Given the description of an element on the screen output the (x, y) to click on. 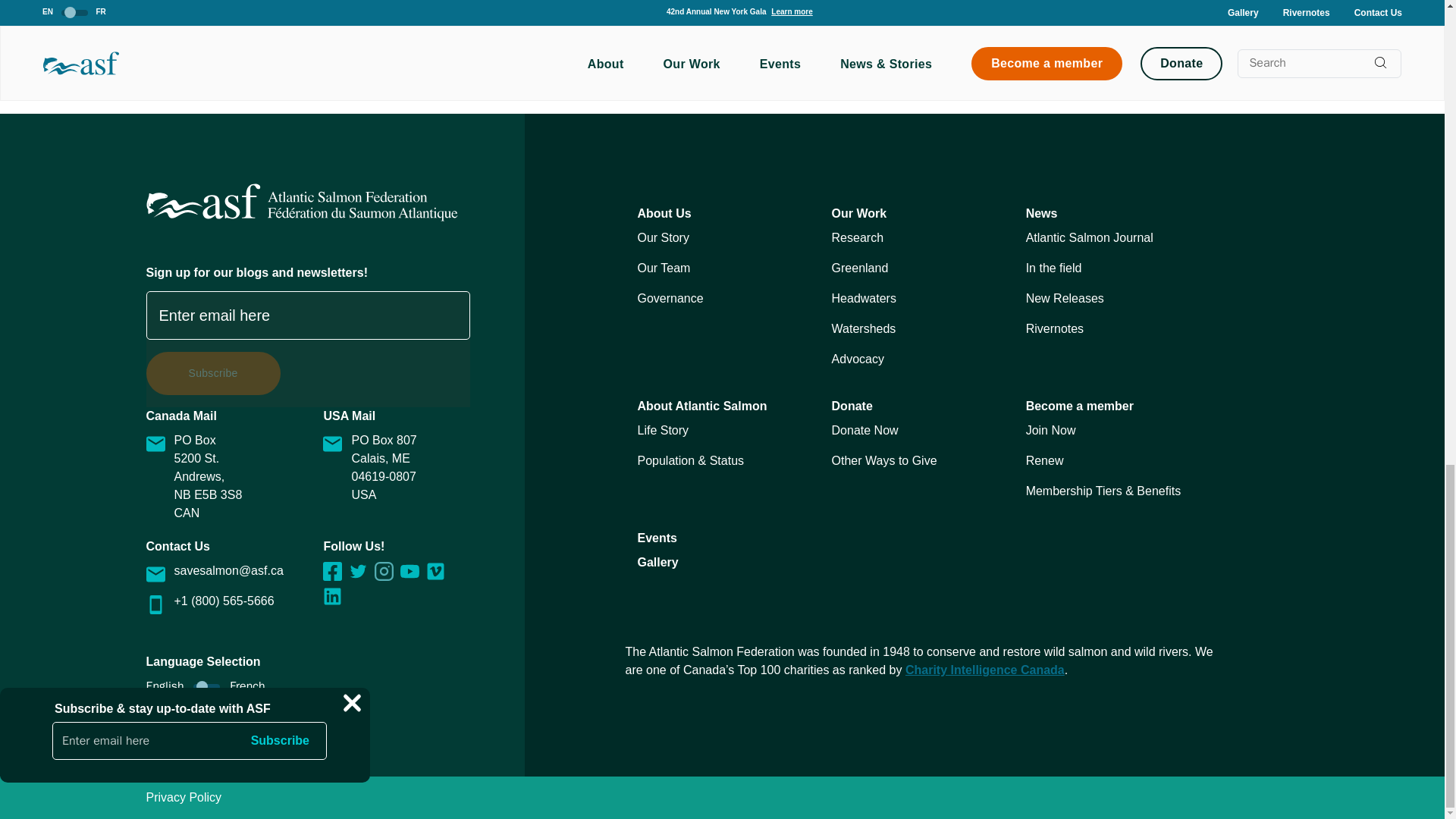
PO Box 5200 St. Andrews, NB E5B 3S8 CAN (234, 476)
Subscribe (212, 373)
PO Box 807 Calais, ME 04619-0807 USA (410, 467)
Subscribe (212, 373)
